Given the description of an element on the screen output the (x, y) to click on. 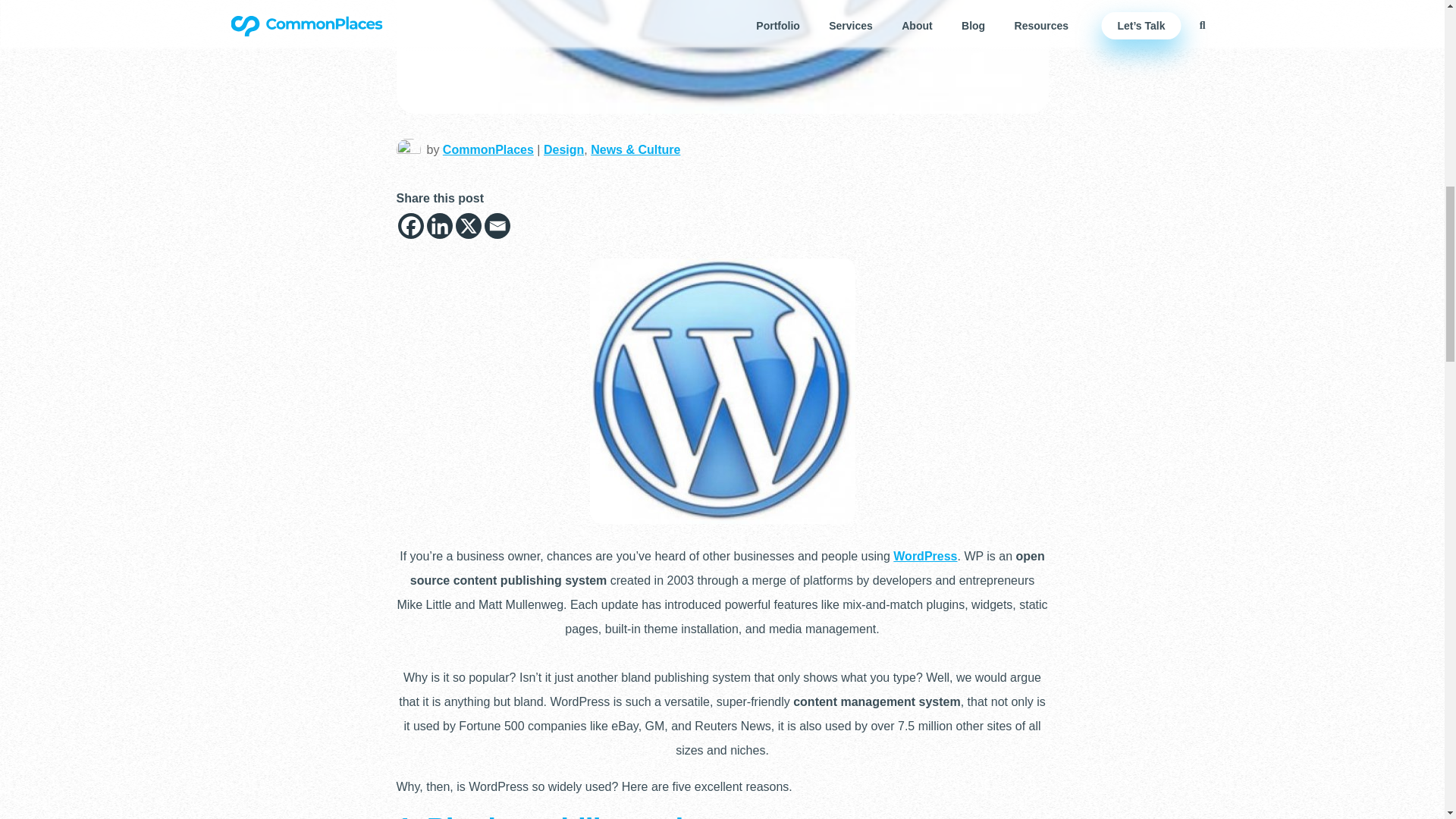
wordpress-logo (722, 56)
WordPress (924, 555)
Facebook (410, 225)
CommonPlaces (488, 149)
Email (496, 225)
Linkedin (438, 225)
Posts by CommonPlaces (488, 149)
X (467, 225)
Design (563, 149)
